Given the description of an element on the screen output the (x, y) to click on. 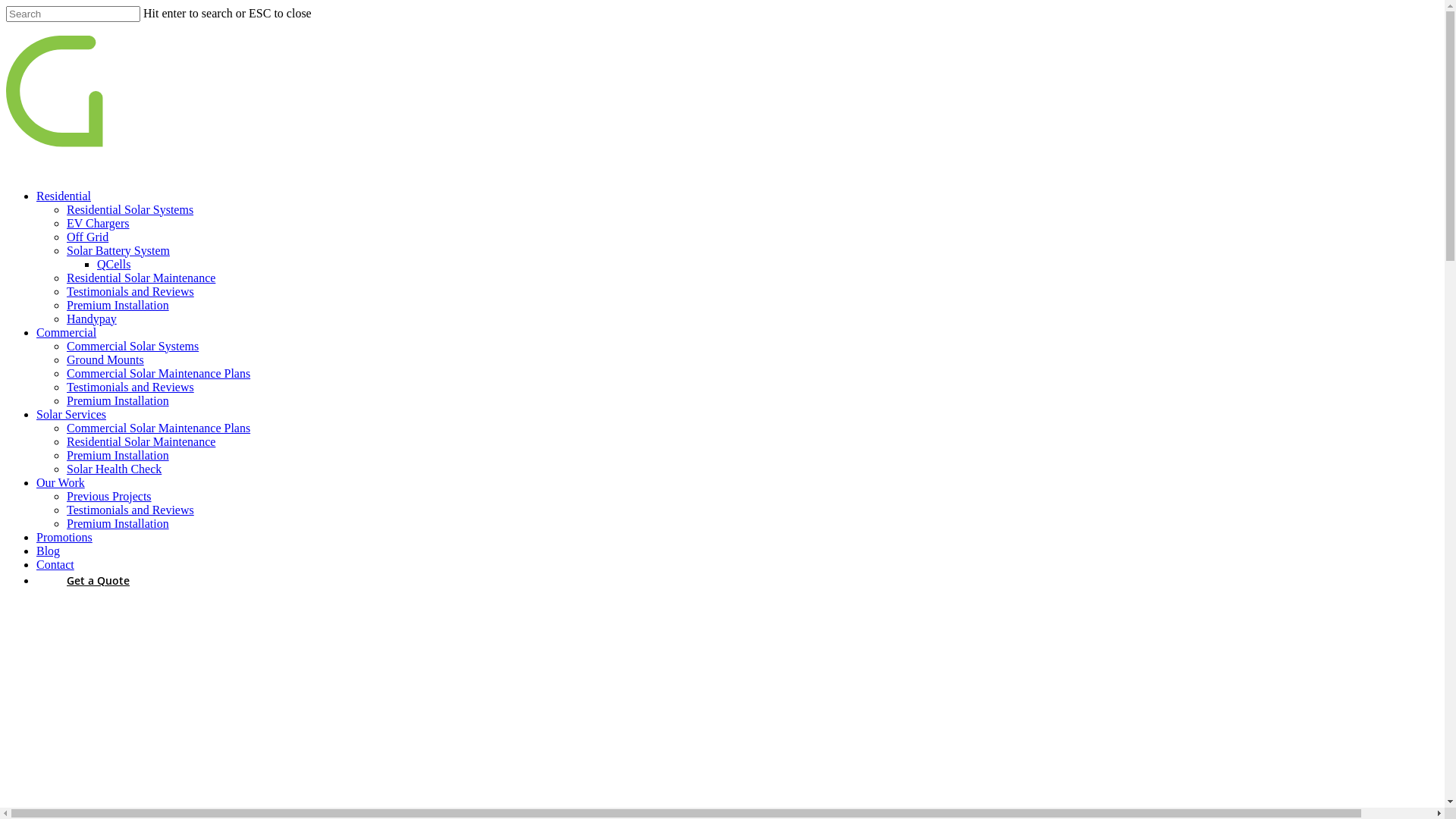
Residential Element type: text (63, 195)
Commercial Solar Maintenance Plans Element type: text (158, 373)
Premium Installation Element type: text (117, 304)
Promotions Element type: text (64, 536)
Our Work Element type: text (60, 482)
Premium Installation Element type: text (117, 523)
Blog Element type: text (47, 550)
Premium Installation Element type: text (117, 454)
Solar Services Element type: text (71, 413)
Premium Installation Element type: text (117, 400)
Testimonials and Reviews Element type: text (130, 386)
Handypay Element type: text (91, 318)
Residential Solar Maintenance Element type: text (140, 441)
Solar Health Check Element type: text (113, 468)
Get a Quote Element type: text (98, 580)
Solar Battery System Element type: text (117, 250)
Commercial Element type: text (66, 332)
Commercial Solar Systems Element type: text (132, 345)
Testimonials and Reviews Element type: text (130, 291)
Contact Element type: text (55, 564)
EV Chargers Element type: text (97, 222)
QCells Element type: text (113, 263)
Residential Solar Systems Element type: text (129, 209)
Residential Solar Maintenance Element type: text (140, 277)
Previous Projects Element type: text (108, 495)
Ground Mounts Element type: text (105, 359)
Skip to main content Element type: text (5, 5)
Testimonials and Reviews Element type: text (130, 509)
Commercial Solar Maintenance Plans Element type: text (158, 427)
Off Grid Element type: text (87, 236)
